Given the description of an element on the screen output the (x, y) to click on. 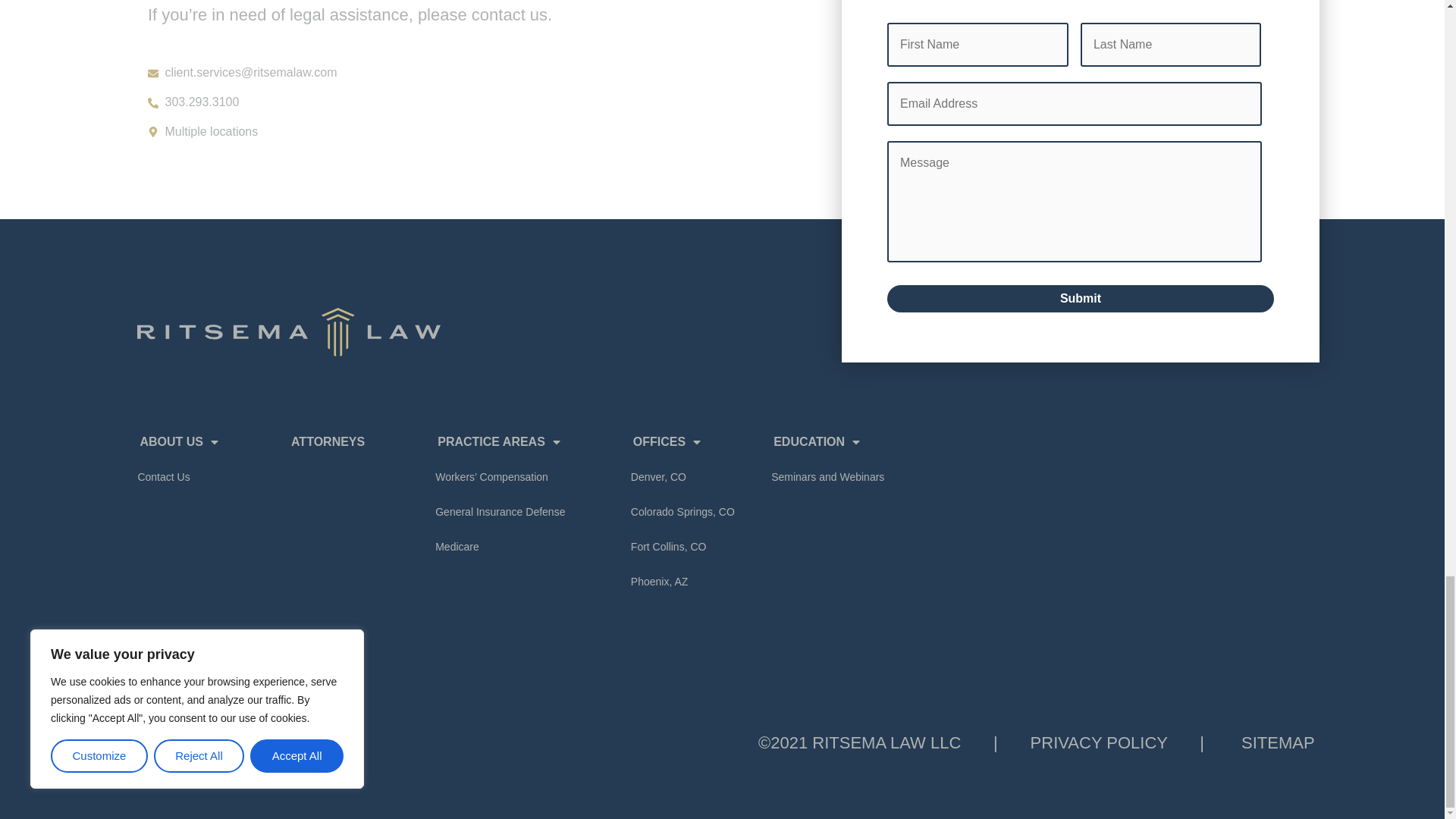
Submit (1080, 298)
